Given the description of an element on the screen output the (x, y) to click on. 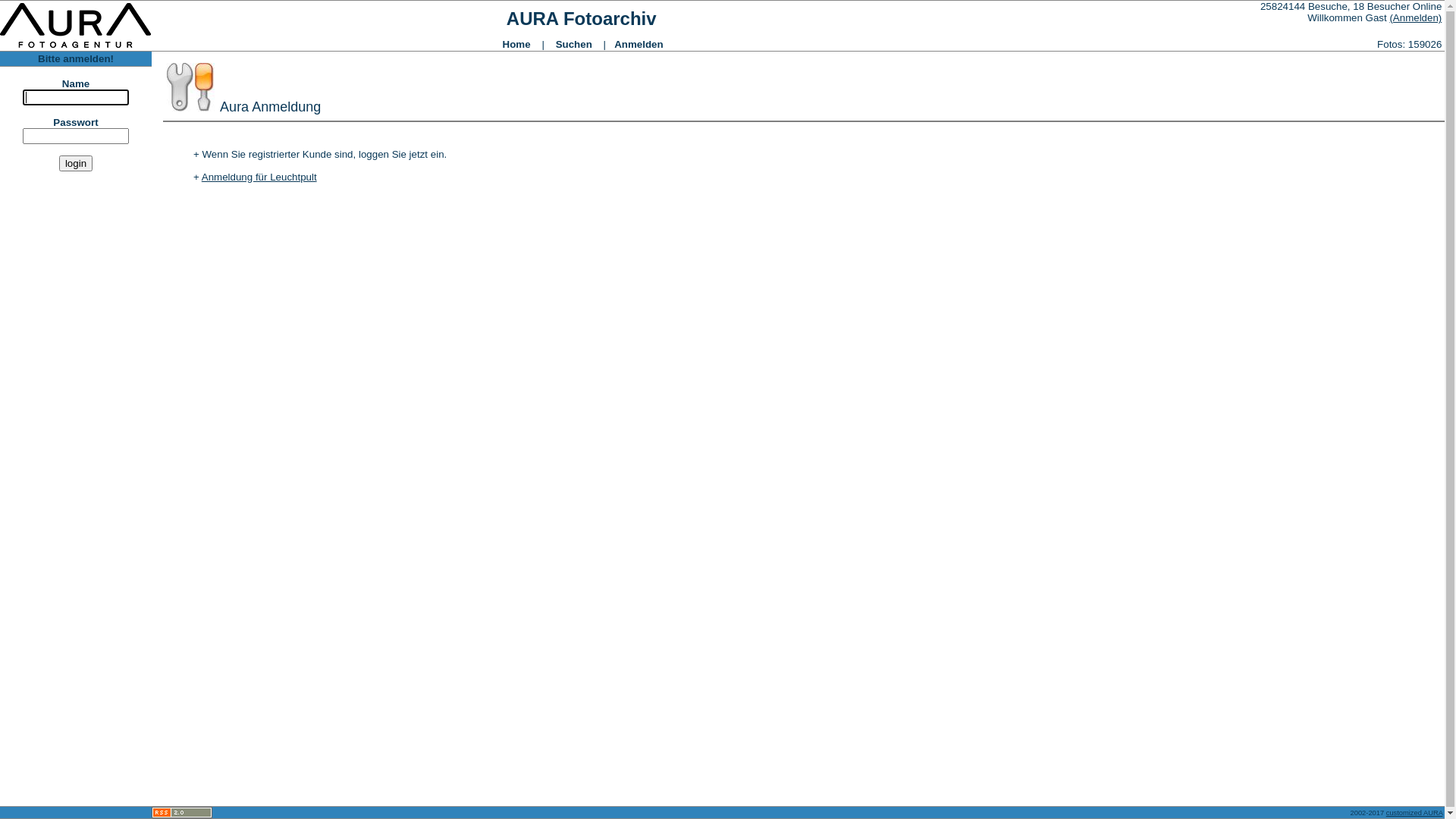
(Anmelden) Element type: text (1415, 17)
Suchen Element type: text (573, 44)
Anmelden Element type: text (638, 44)
Home Element type: text (516, 44)
login Element type: text (75, 163)
customized AURA Element type: text (1414, 811)
